Given the description of an element on the screen output the (x, y) to click on. 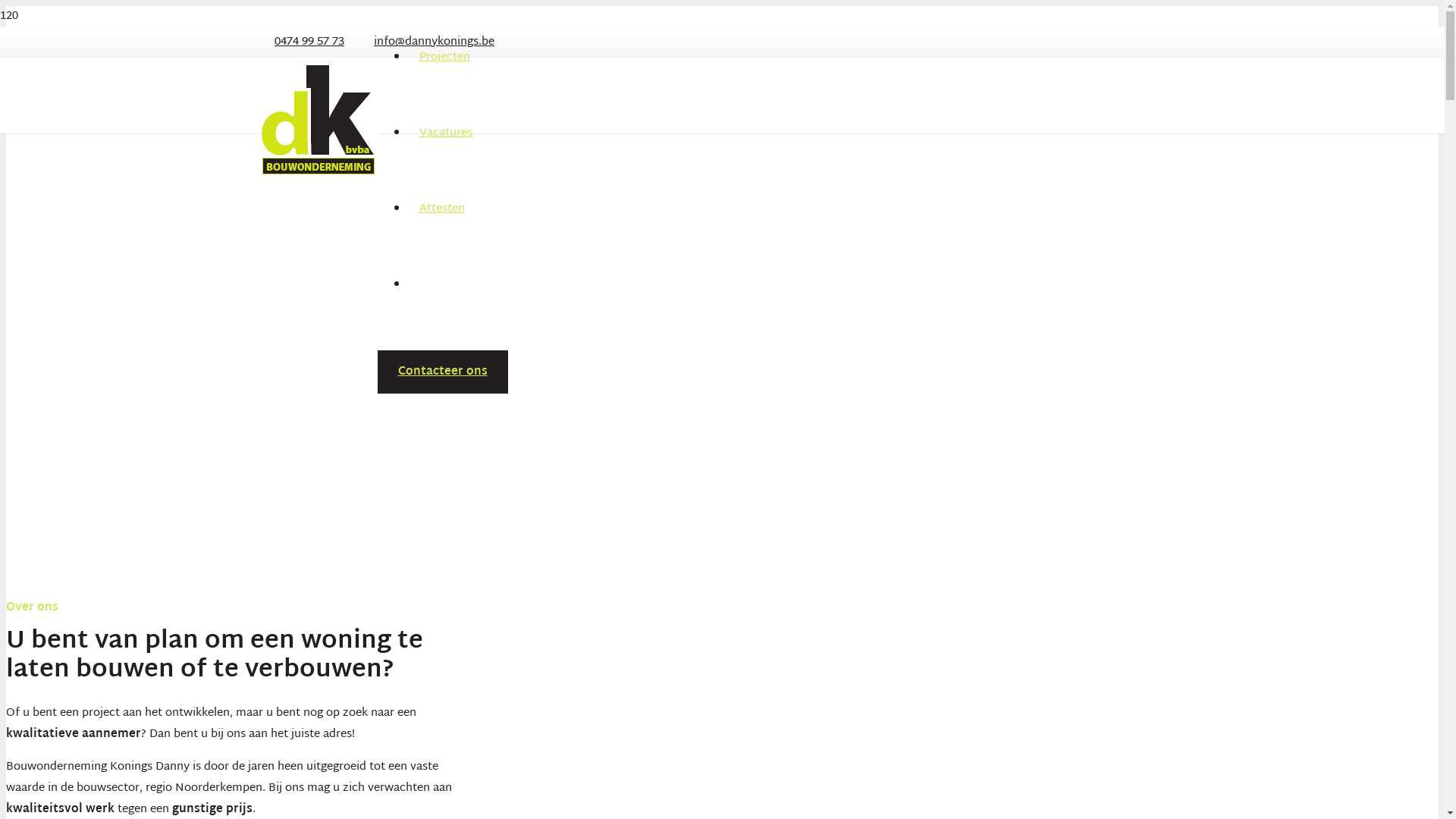
0474 99 57 73 Element type: text (308, 41)
Attesten Element type: text (441, 208)
Contacteer ons Element type: text (442, 371)
Projecten Element type: text (444, 57)
Vacatures Element type: text (445, 132)
info@dannykonings.be Element type: text (434, 41)
